Given the description of an element on the screen output the (x, y) to click on. 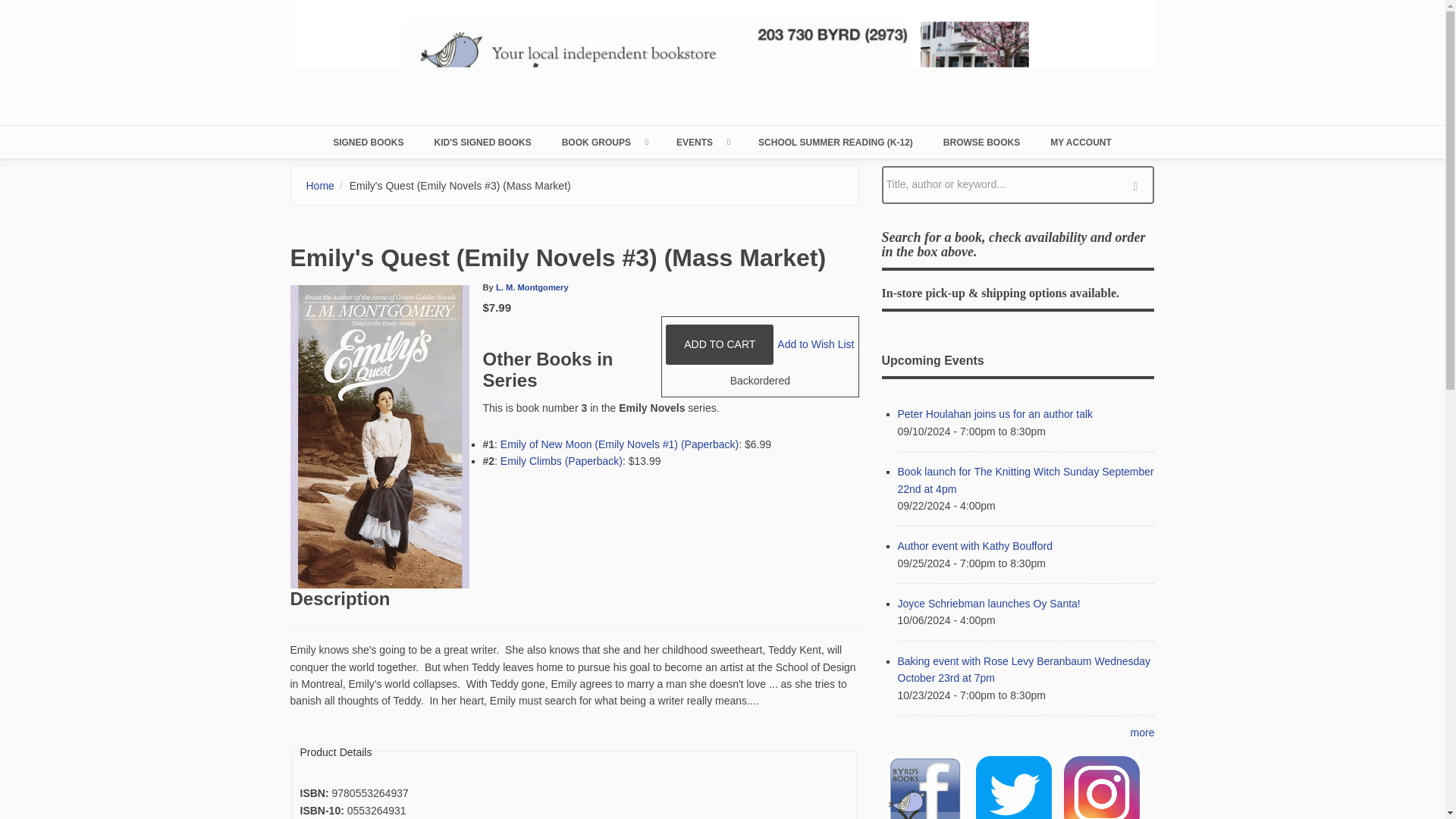
Title, author or keyword... (1017, 184)
Add to Cart (719, 343)
Home (721, 59)
Add to Cart (719, 343)
BROWSE BOOKS (981, 142)
L. M. Montgomery (532, 286)
SIGNED BOOKS (368, 142)
MY ACCOUNT (1080, 142)
BOOK GROUPS (604, 142)
Add to Wish List (815, 344)
